Given the description of an element on the screen output the (x, y) to click on. 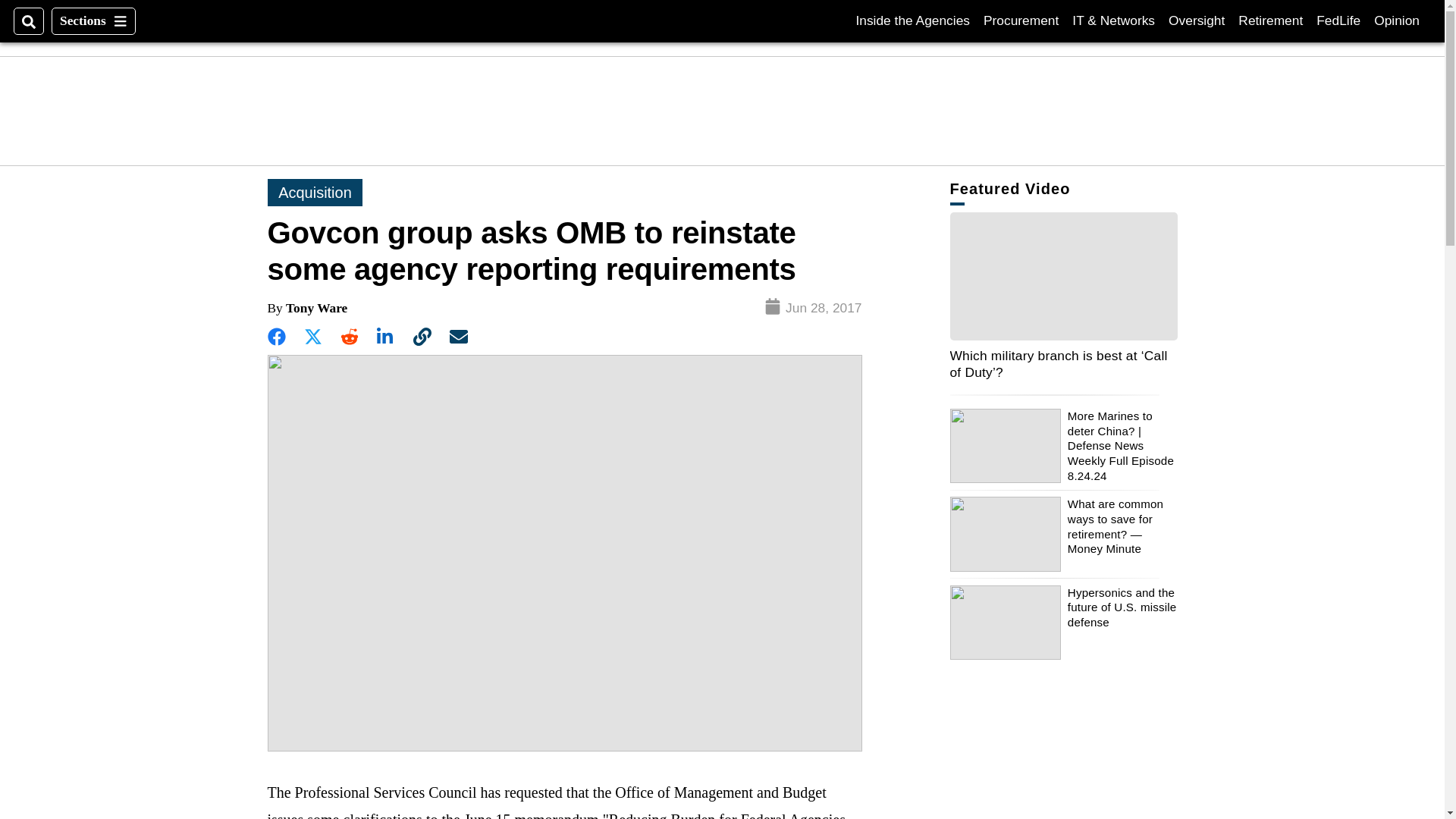
Opinion (1396, 20)
Oversight (1196, 20)
Retirement (1271, 20)
FedLife (1337, 20)
Procurement (1021, 20)
Sections (92, 21)
Inside the Agencies (912, 20)
